Given the description of an element on the screen output the (x, y) to click on. 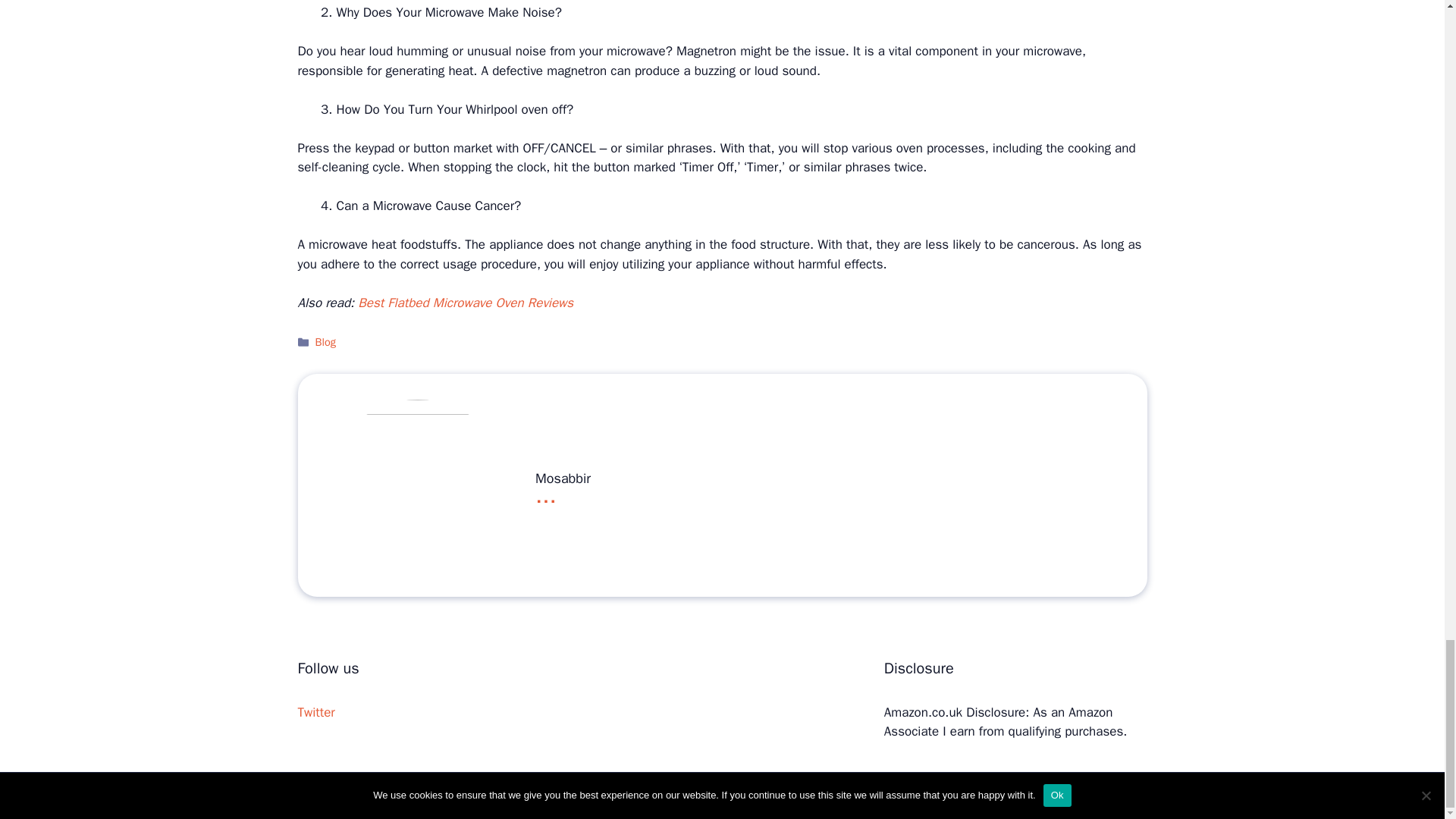
Blog (325, 341)
Best Flatbed Microwave Oven Reviews (465, 302)
Twitter (315, 712)
